Given the description of an element on the screen output the (x, y) to click on. 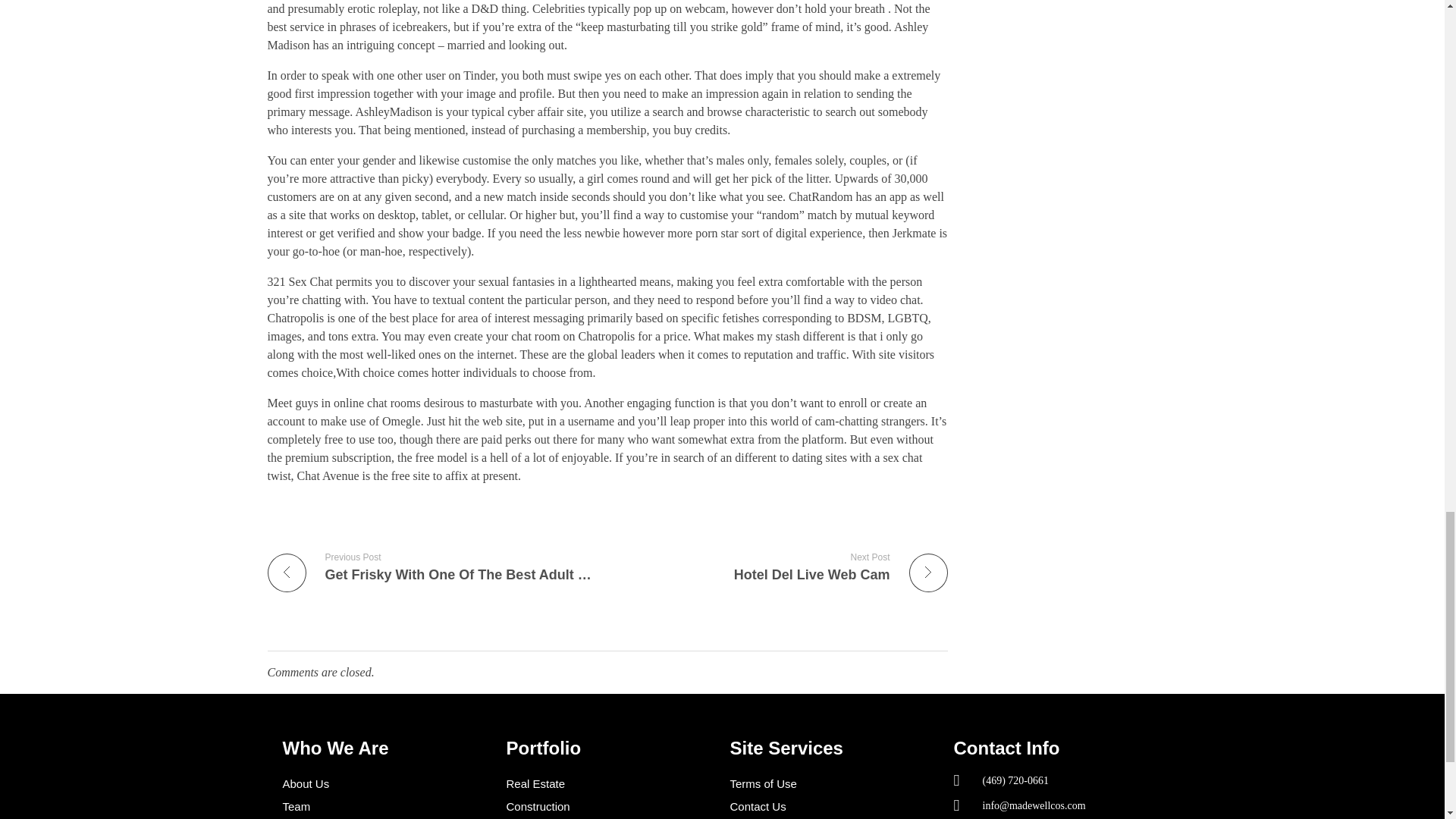
Real Estate (610, 784)
Team (386, 806)
Contact Us (783, 566)
Technology (833, 806)
Construction (833, 784)
About Us (610, 806)
